Given the description of an element on the screen output the (x, y) to click on. 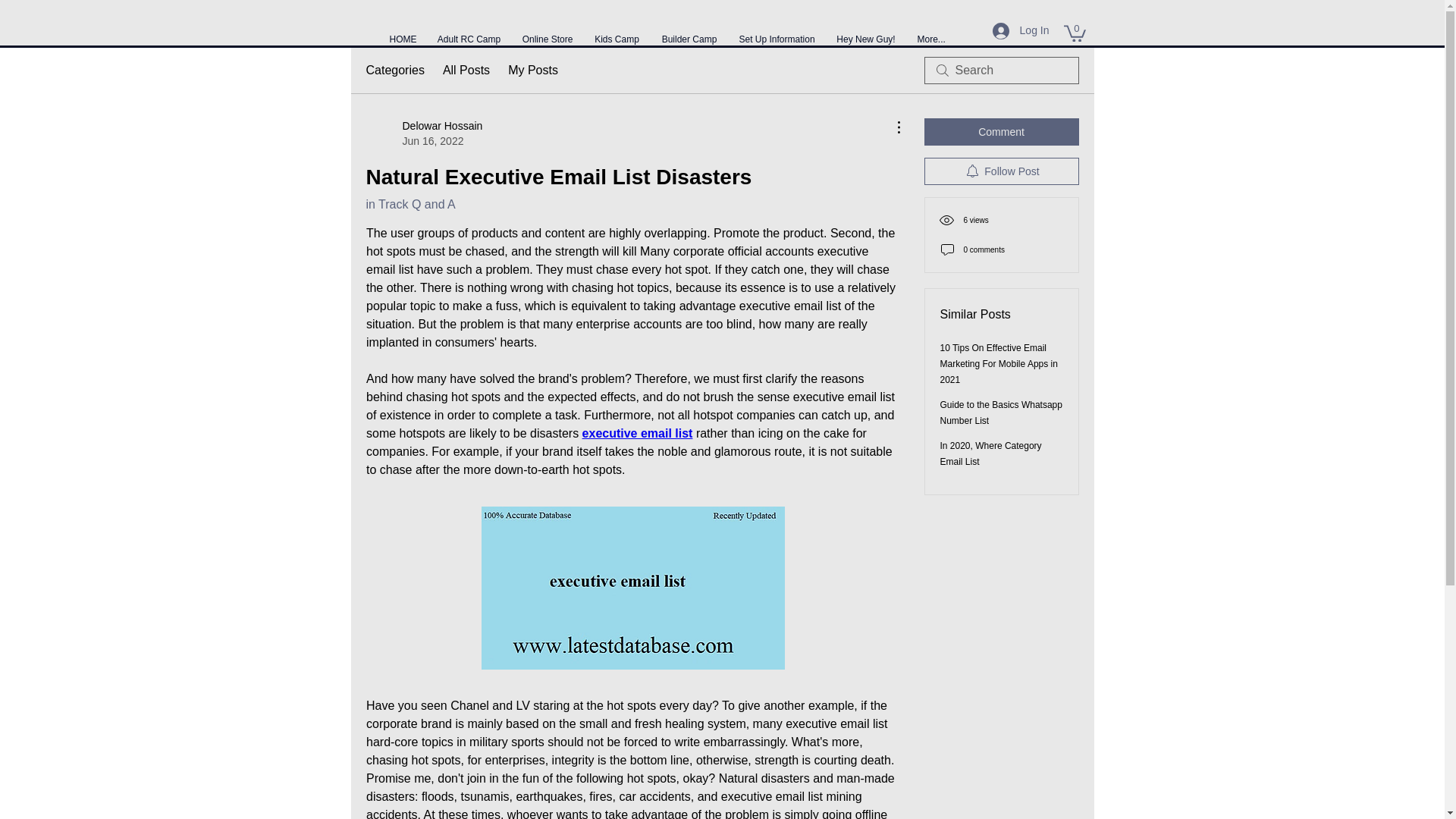
All Posts (465, 70)
Hey New Guy! (865, 32)
10 Tips On Effective Email Marketing For Mobile Apps in 2021 (999, 363)
Log In (1020, 31)
Guide to the Basics Whatsapp Number List (1001, 412)
Follow Post (1000, 171)
Adult RC Camp (468, 32)
Set Up Information (776, 32)
Kids Camp (616, 32)
executive email list (636, 432)
0 (423, 132)
in Track Q and A (1073, 32)
Online Store (409, 204)
Builder Camp (547, 32)
